Given the description of an element on the screen output the (x, y) to click on. 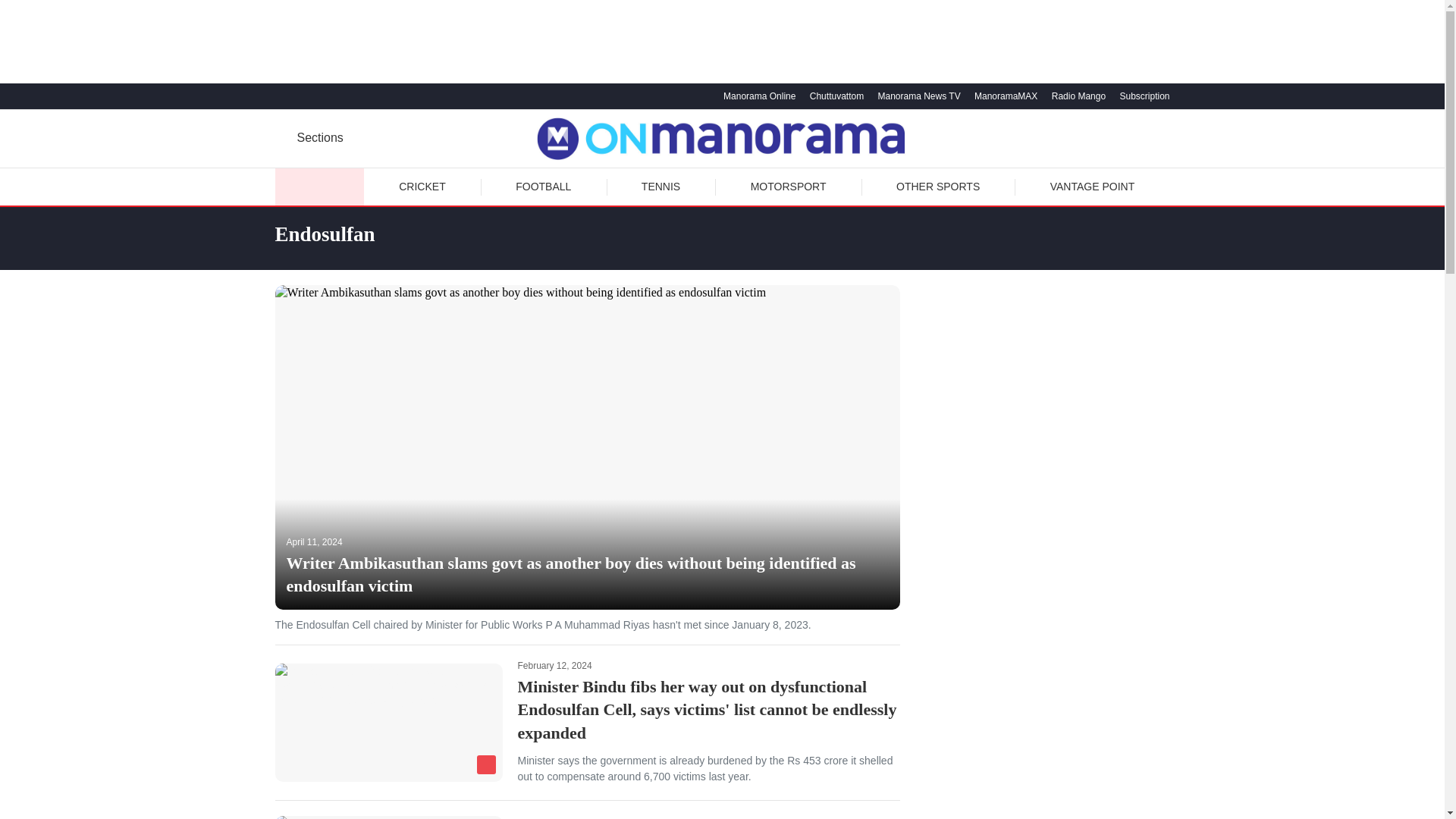
MOTORSPORT (787, 186)
Chuttuvattom (834, 95)
OTHER SPORTS (938, 186)
Manorama Online (756, 95)
ManoramaMAX (1003, 95)
Manorama News TV (916, 95)
Subscription (1142, 95)
TENNIS (660, 186)
Radio Mango (1076, 95)
FOOTBALL (543, 186)
CRICKET (421, 186)
